Given the description of an element on the screen output the (x, y) to click on. 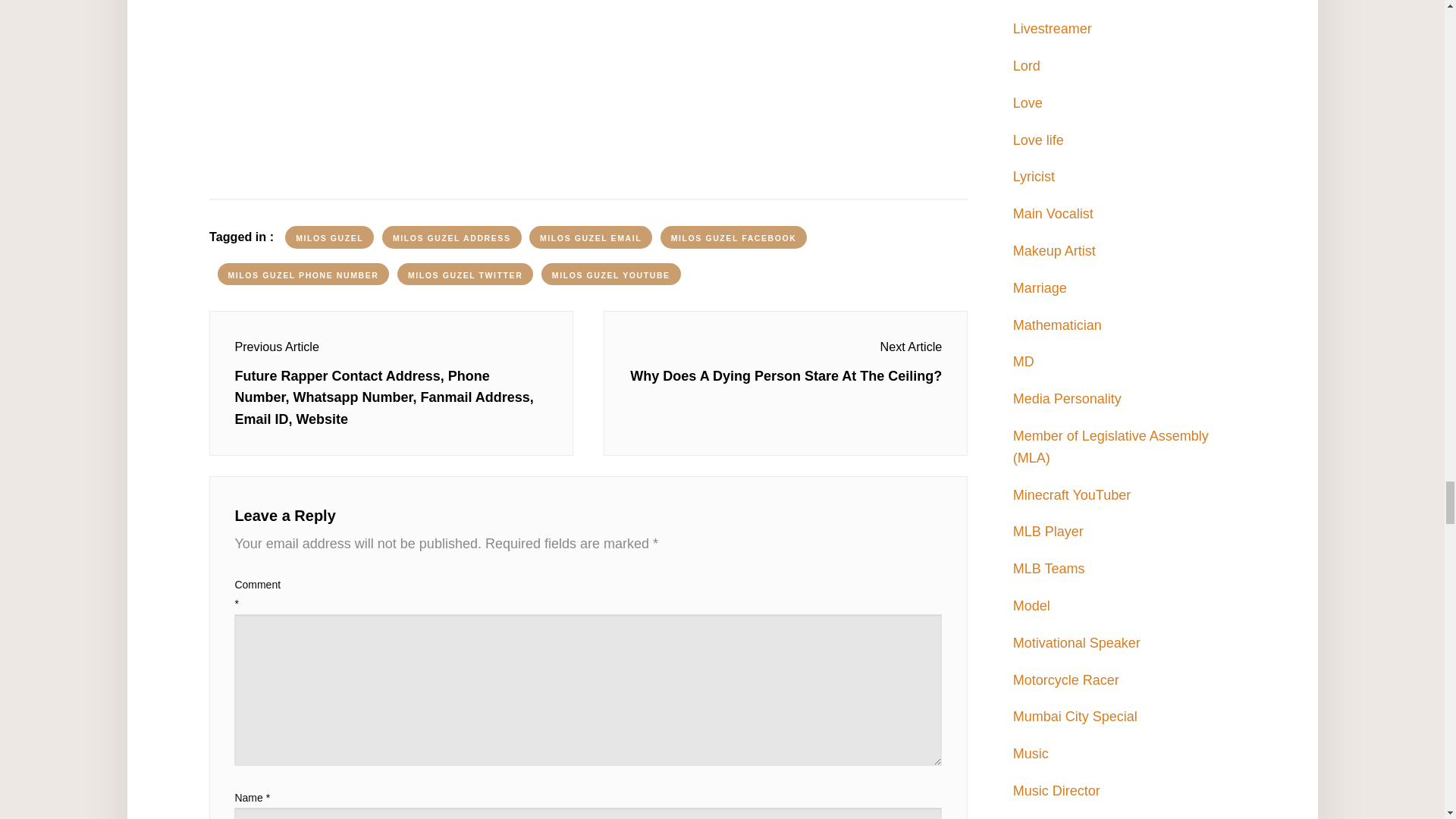
MILOS GUZEL (329, 237)
MILOS GUZEL YOUTUBE (611, 273)
MILOS GUZEL EMAIL (590, 237)
YouTube video player (587, 84)
MILOS GUZEL FACEBOOK (734, 237)
MILOS GUZEL ADDRESS (451, 237)
MILOS GUZEL TWITTER (464, 273)
MILOS GUZEL PHONE NUMBER (303, 273)
